Given the description of an element on the screen output the (x, y) to click on. 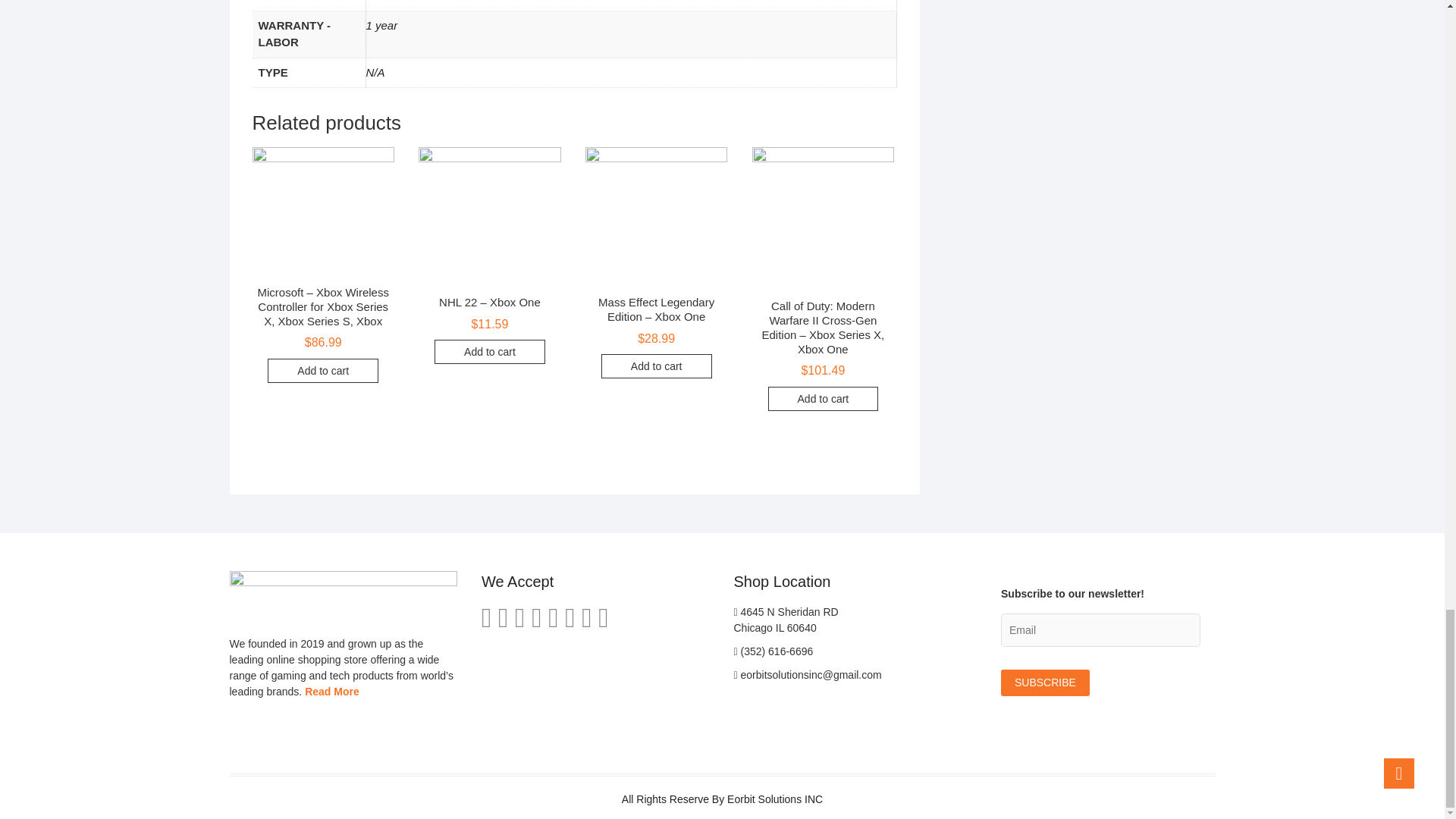
Subscribe (1045, 682)
